Given the description of an element on the screen output the (x, y) to click on. 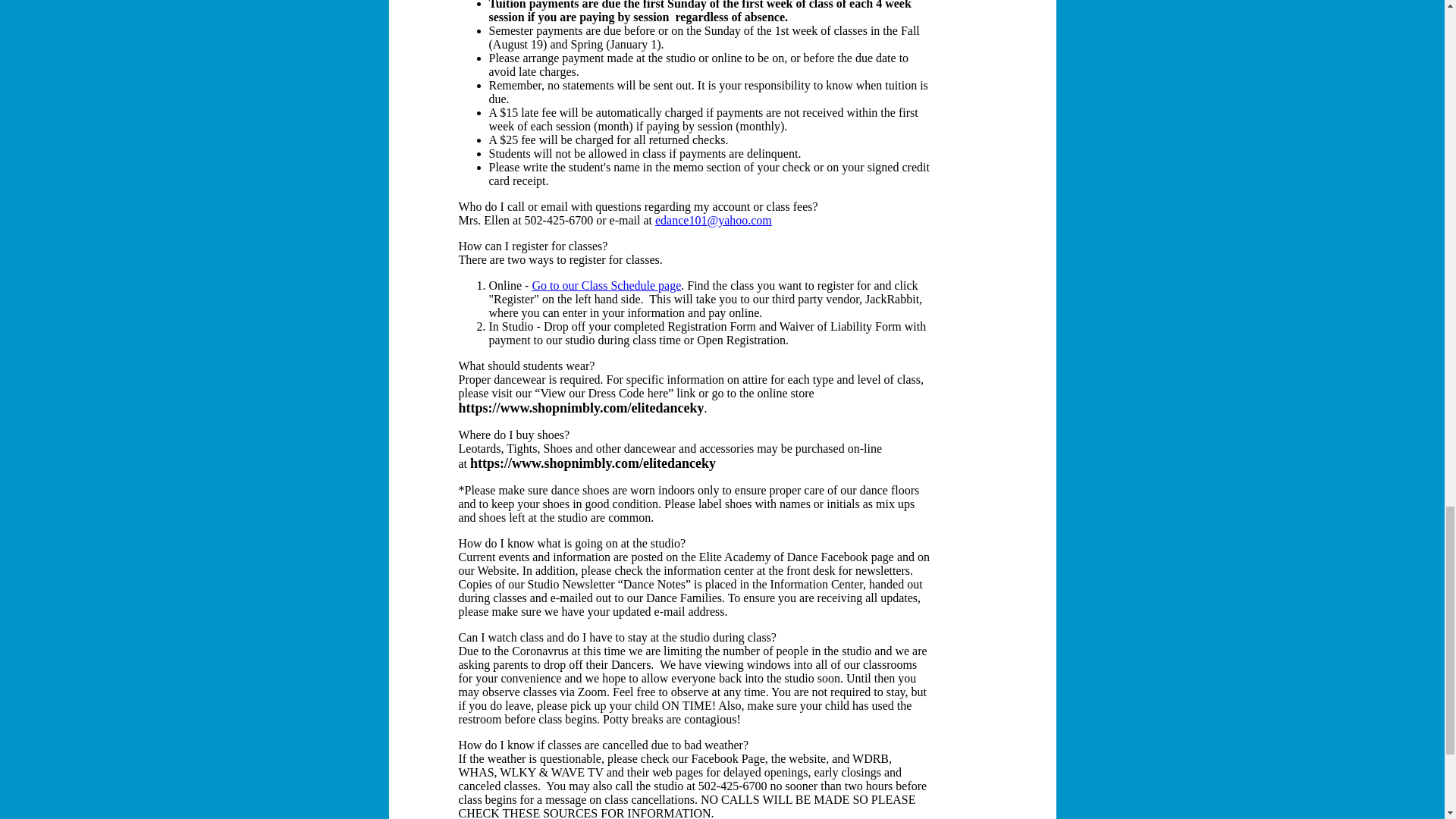
Go to our Class Schedule page (606, 285)
